Given the description of an element on the screen output the (x, y) to click on. 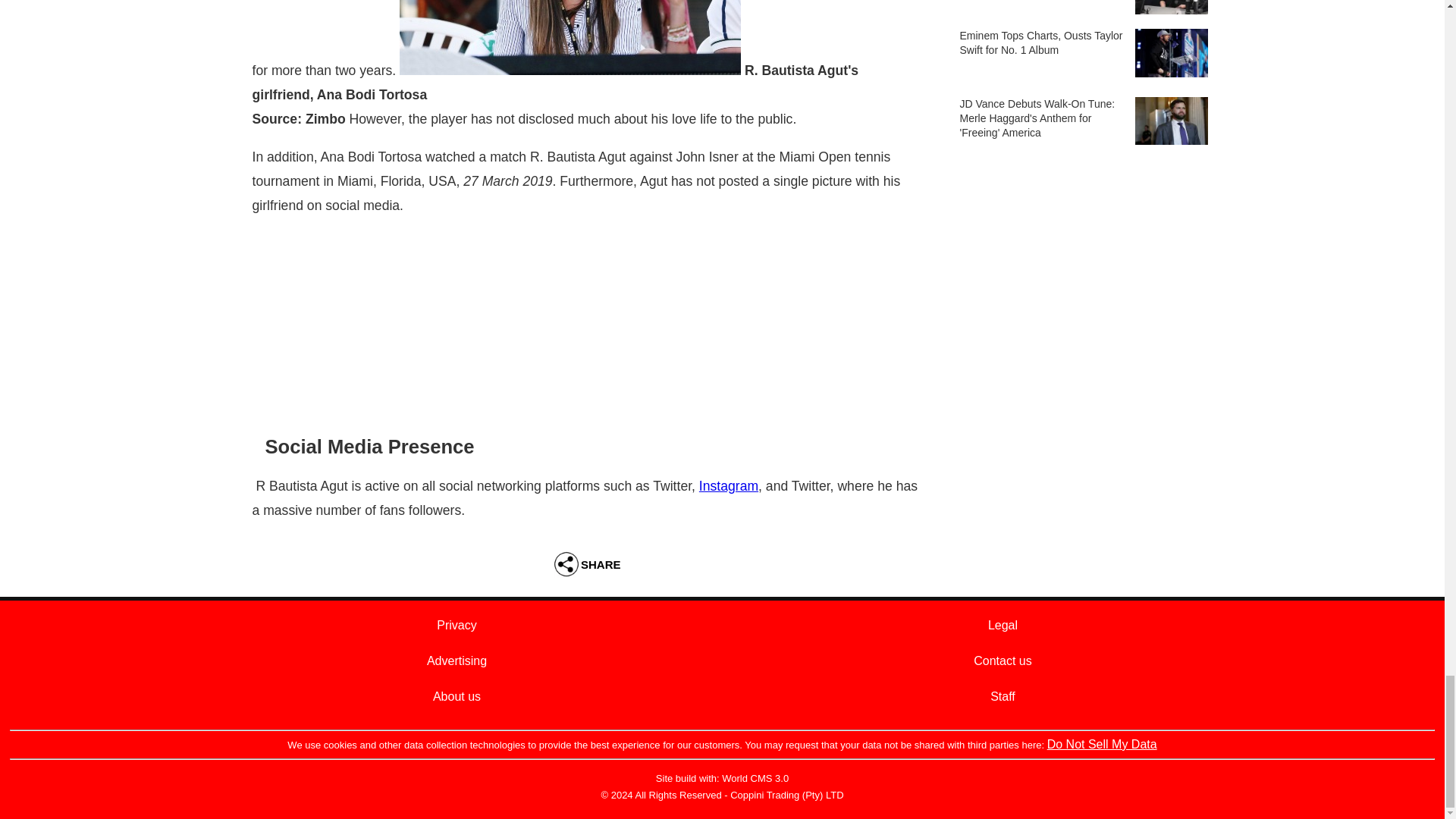
Instagram (728, 485)
